Given the description of an element on the screen output the (x, y) to click on. 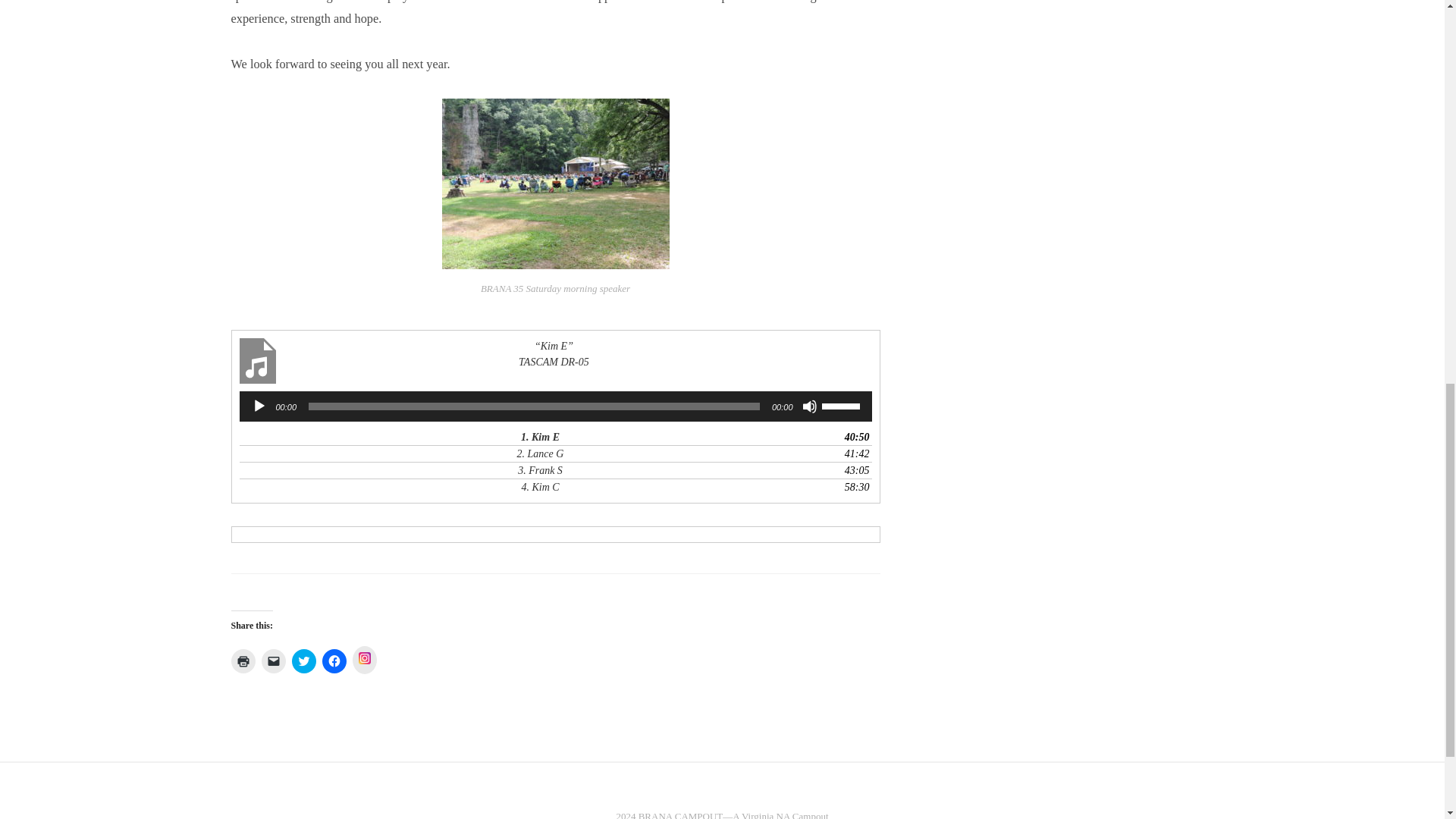
Click to email a link to a friend (272, 661)
Click to share on Facebook (333, 661)
Click to share on Twitter (303, 661)
2. Lance G (539, 453)
Play (258, 406)
4. Kim C (539, 487)
1. Kim E (539, 437)
Click to print (242, 661)
3. Frank S (539, 470)
Mute (809, 406)
